Given the description of an element on the screen output the (x, y) to click on. 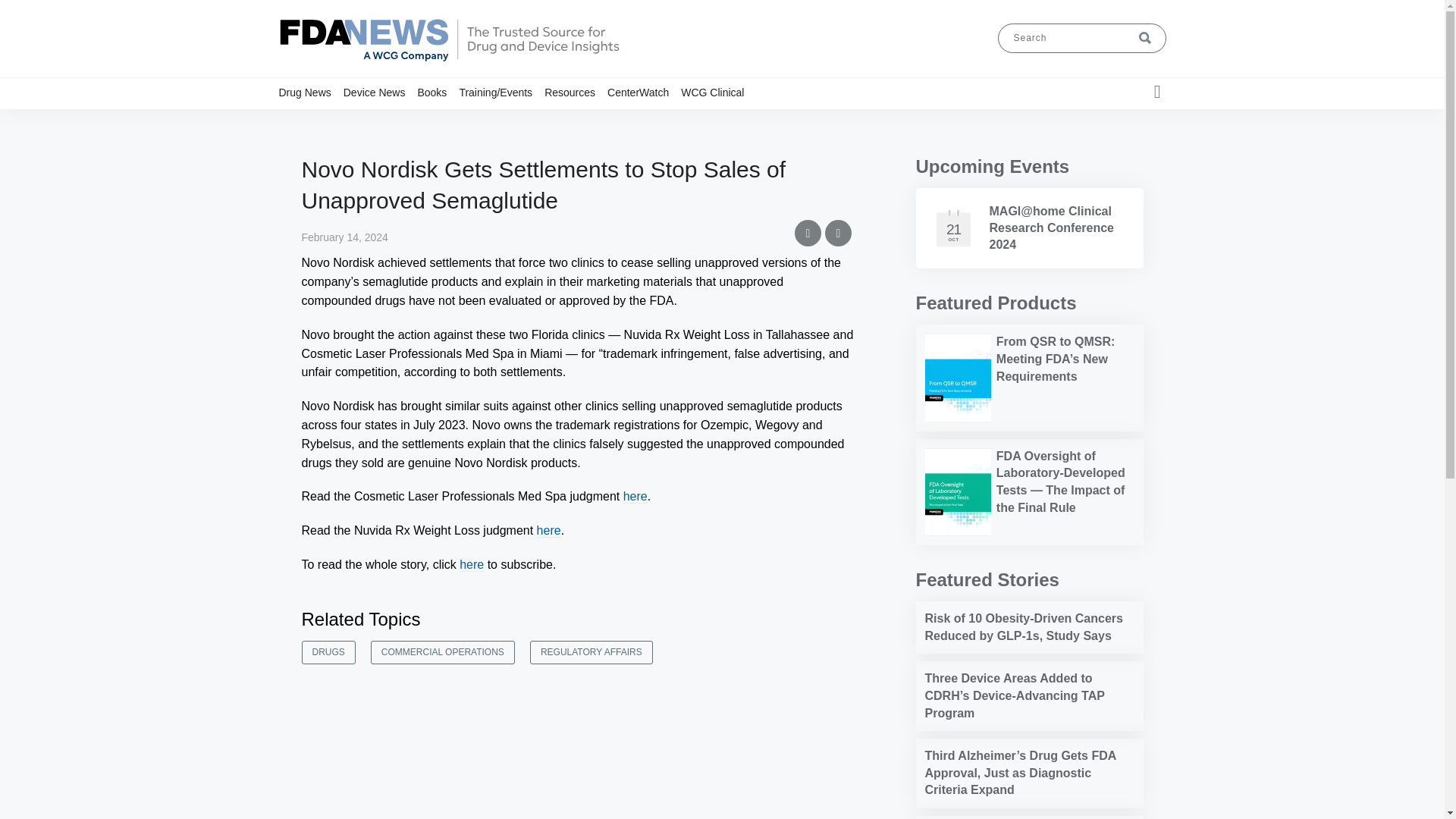
Submissions and Approvals (451, 127)
Resources (575, 91)
Regulatory Affairs (445, 121)
Regulatory Affairs (383, 121)
Device News (380, 91)
Webinar Training Pass (534, 121)
Postmarket Safety (378, 121)
Inspections and Audits (435, 121)
Submit (1144, 37)
Commercial Operations (424, 121)
